Given the description of an element on the screen output the (x, y) to click on. 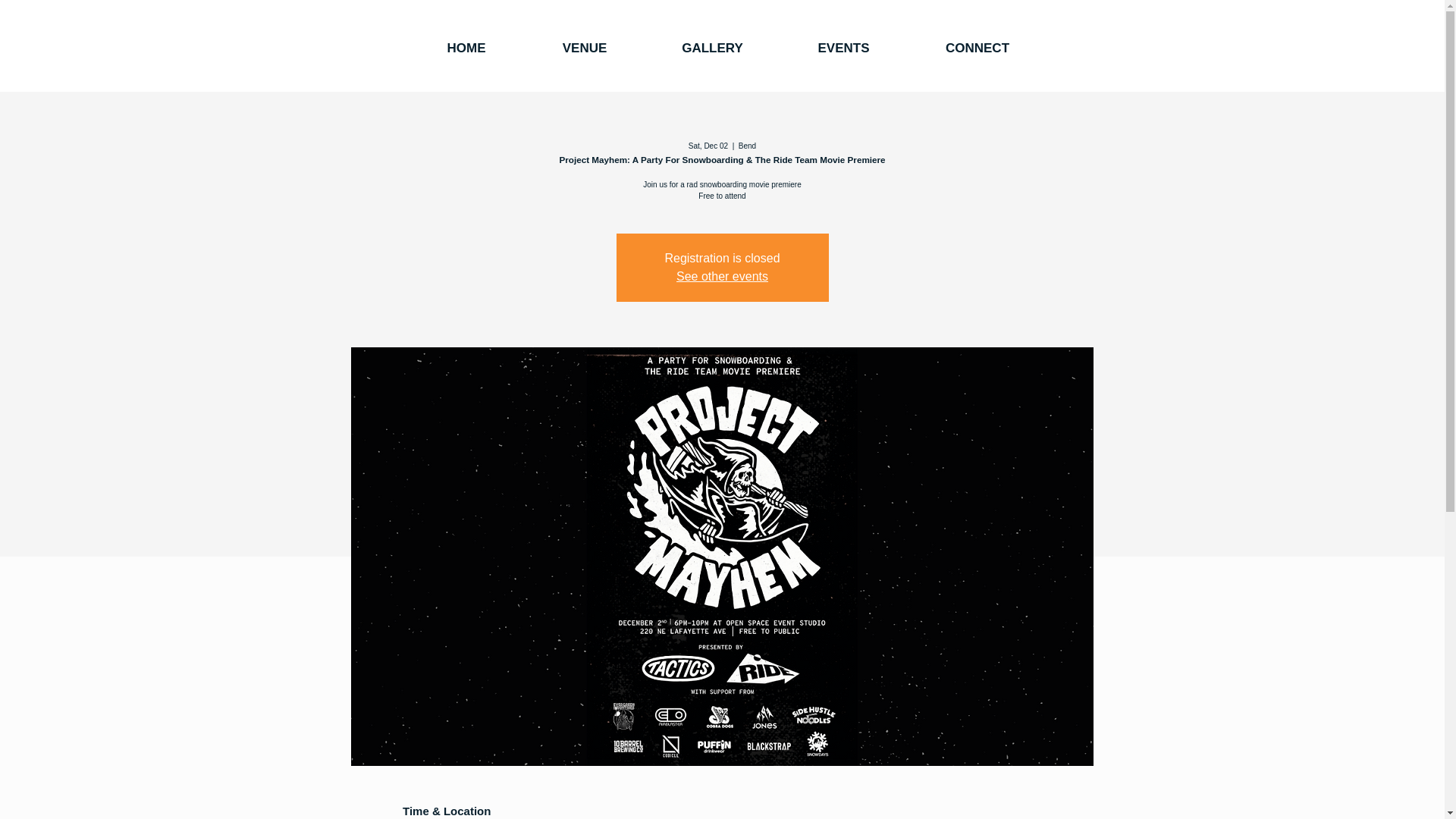
HOME (465, 48)
CONNECT (976, 48)
See other events (722, 276)
GALLERY (711, 48)
VENUE (584, 48)
EVENTS (842, 48)
